Given the description of an element on the screen output the (x, y) to click on. 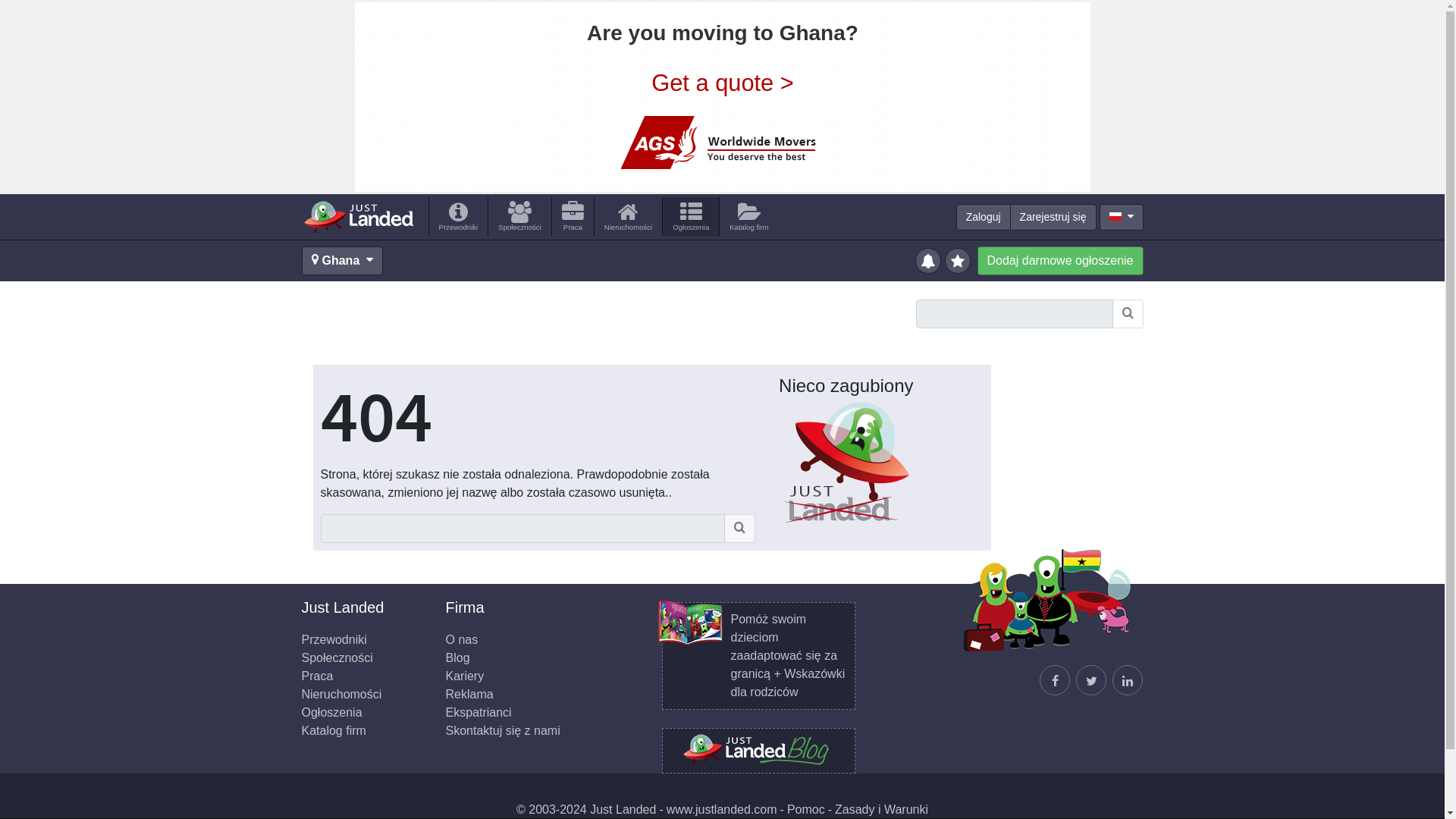
Ghana (342, 260)
Just Landed (357, 216)
Katalog firm (333, 730)
Just Landed (357, 216)
Ekspatrianci (478, 712)
Blog (457, 657)
Kariery (464, 675)
Powiadomienia (928, 259)
Praca w Ghana (572, 217)
Praca (572, 217)
Przewodniki (458, 217)
Polish (1114, 216)
Zaloguj (983, 216)
Przewodniki (333, 639)
